Given the description of an element on the screen output the (x, y) to click on. 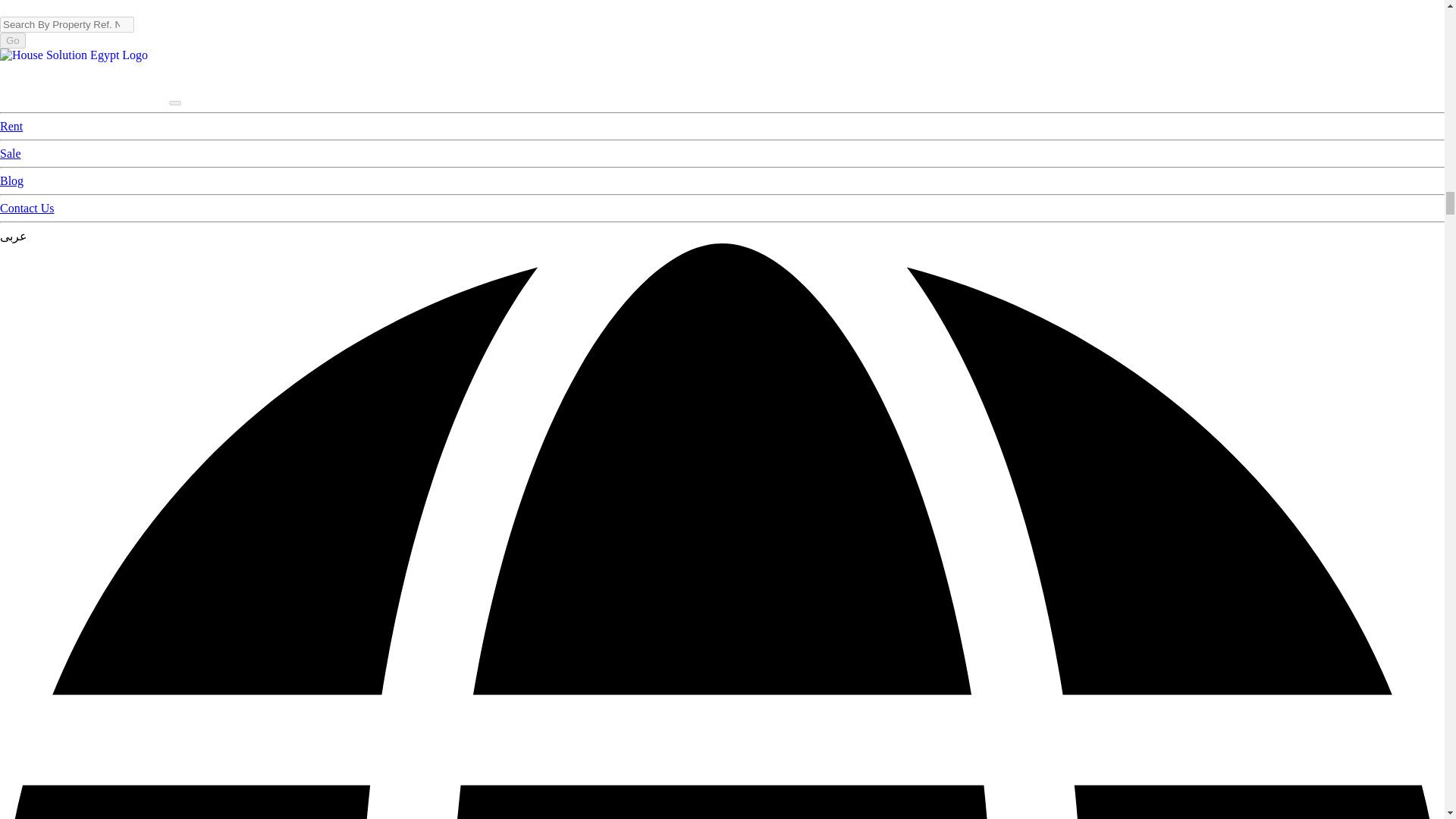
Go (13, 40)
Contact Us (27, 207)
House Solution Egypt Logo (84, 98)
Sale (10, 153)
Rent (11, 125)
Blog (11, 180)
Go (13, 40)
